Given the description of an element on the screen output the (x, y) to click on. 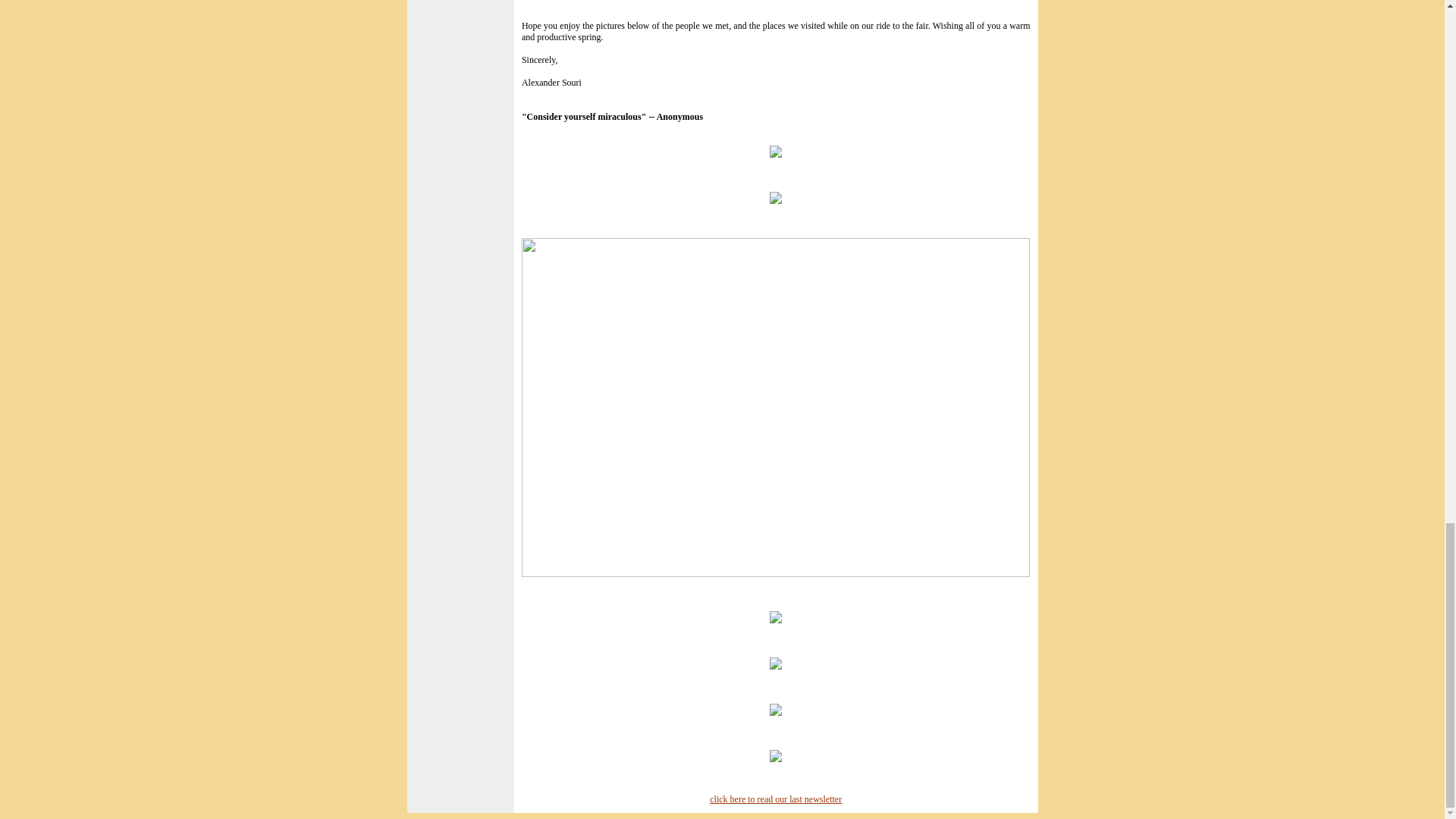
click here to read our last newsletter (775, 798)
